Given the description of an element on the screen output the (x, y) to click on. 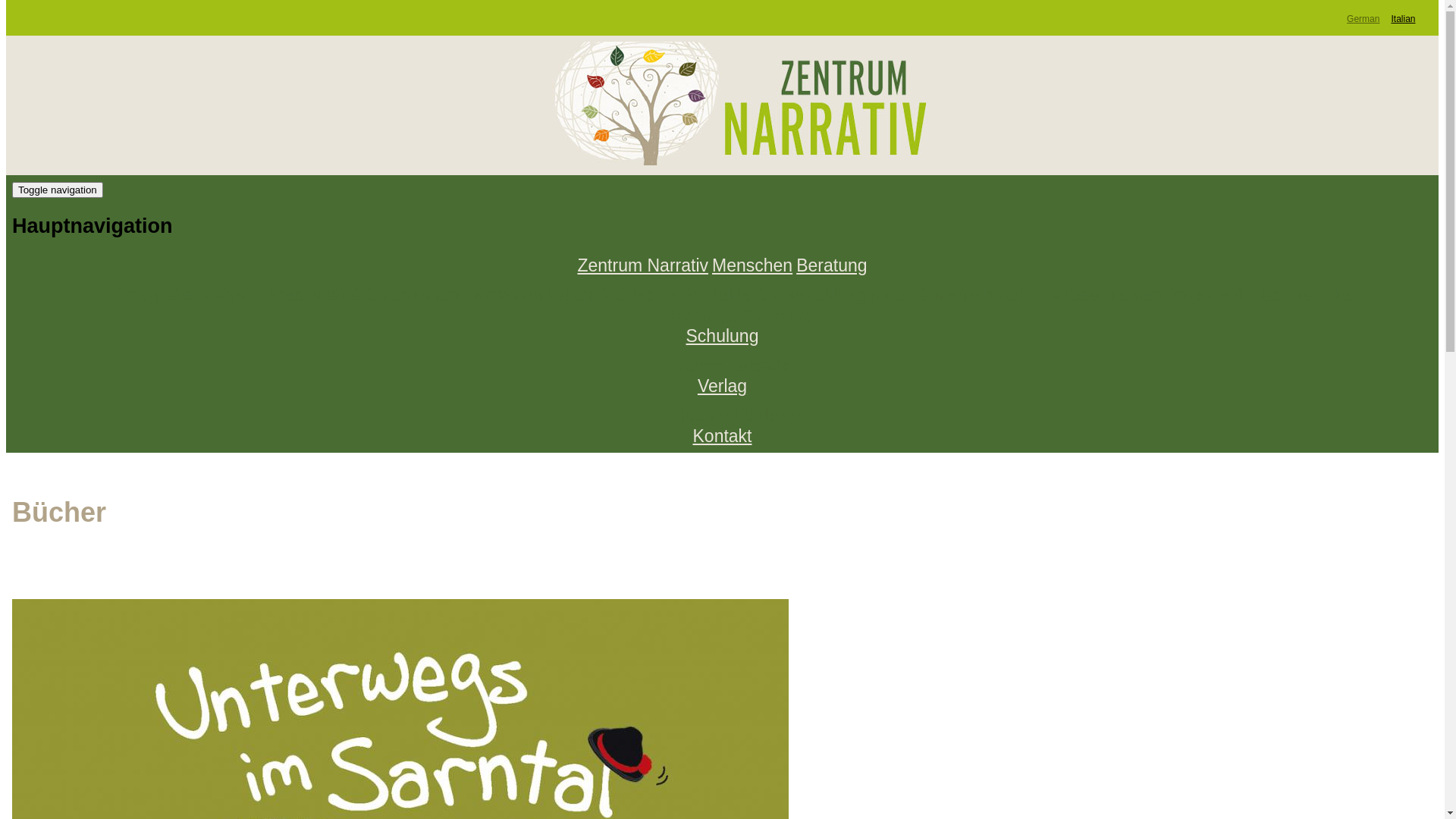
Produkte & Entwicklung Element type: text (772, 295)
Direkt zum Inhalt Element type: text (6, 0)
German Element type: text (1362, 18)
Kommunikation & Erlebnis Element type: text (575, 295)
Kosmetik & Aroma Element type: text (737, 315)
Natur & Mensch Element type: text (931, 295)
Schulung Element type: text (722, 336)
Fotografie & Mystik Element type: text (188, 295)
Toggle navigation Element type: text (57, 189)
Zentrum Narrativ Element type: text (642, 265)
Kultur & Geschichten Element type: text (1079, 295)
Kontakt Element type: text (722, 436)
Italian Element type: text (1402, 18)
Menschen Element type: text (752, 265)
Projekte & Nachhaltigkeit Element type: text (1262, 295)
Kalender Element type: text (762, 365)
Verlag Element type: text (721, 386)
Beratung Element type: text (831, 265)
Kurse Element type: text (700, 365)
